Given the description of an element on the screen output the (x, y) to click on. 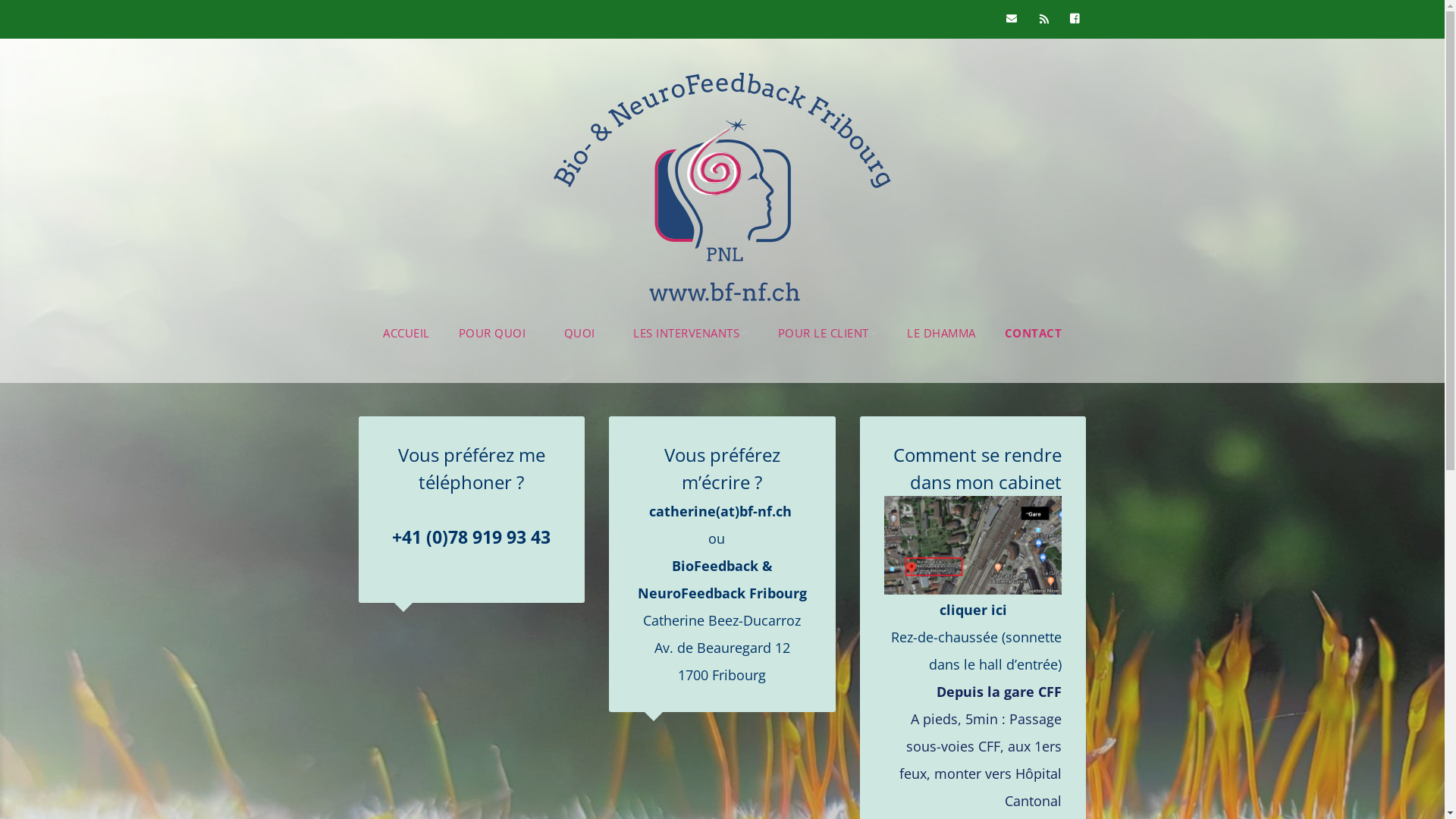
CONTACT Element type: text (1032, 332)
cliquer ici Element type: text (973, 558)
POUR QUOI Element type: text (495, 332)
ACCUEIL Element type: text (406, 332)
POUR LE CLIENT Element type: text (828, 332)
QUOI Element type: text (584, 332)
LES INTERVENANTS Element type: text (691, 332)
LE DHAMMA Element type: text (941, 332)
